Given the description of an element on the screen output the (x, y) to click on. 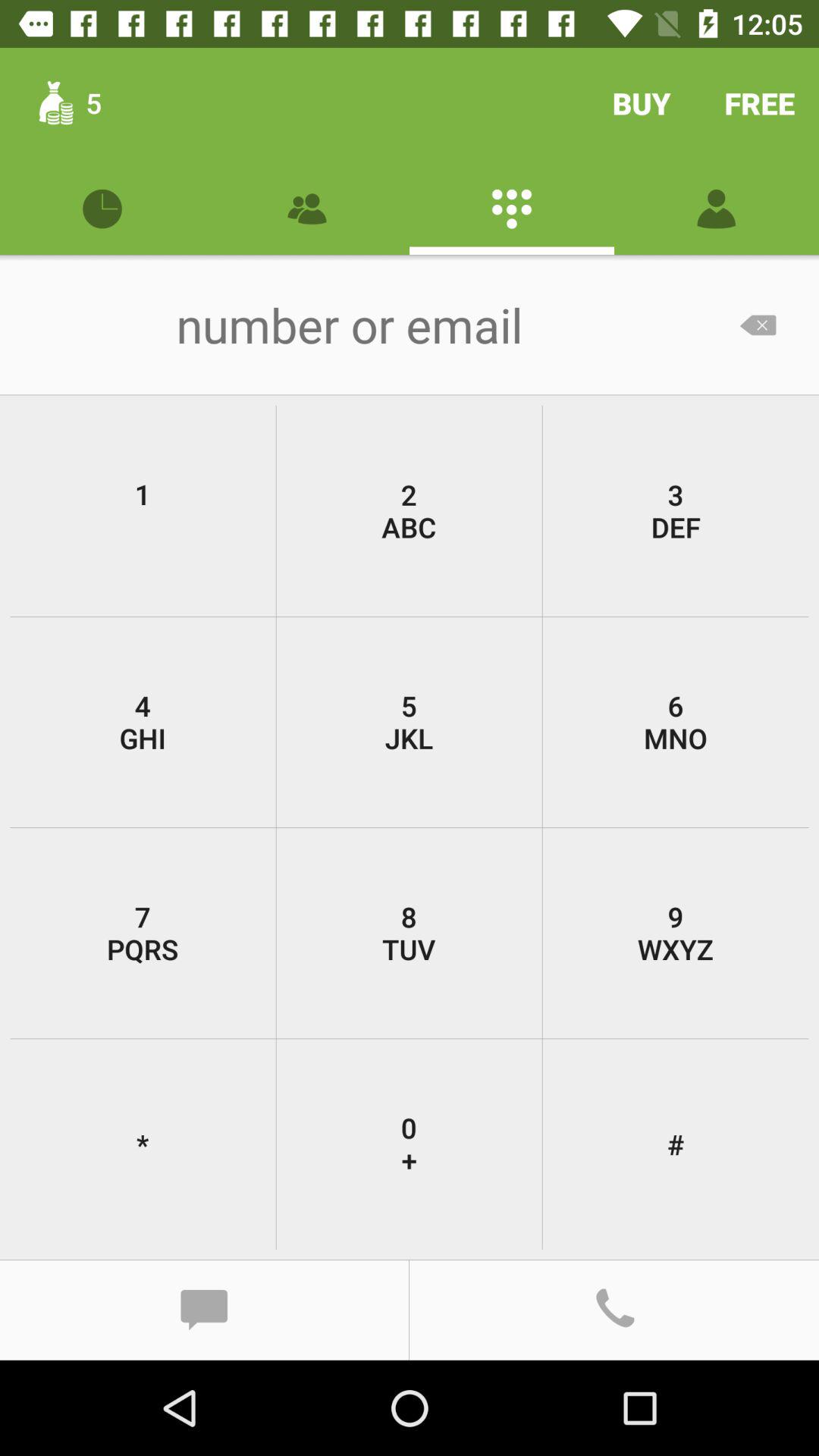
launch item below 1 (409, 722)
